Given the description of an element on the screen output the (x, y) to click on. 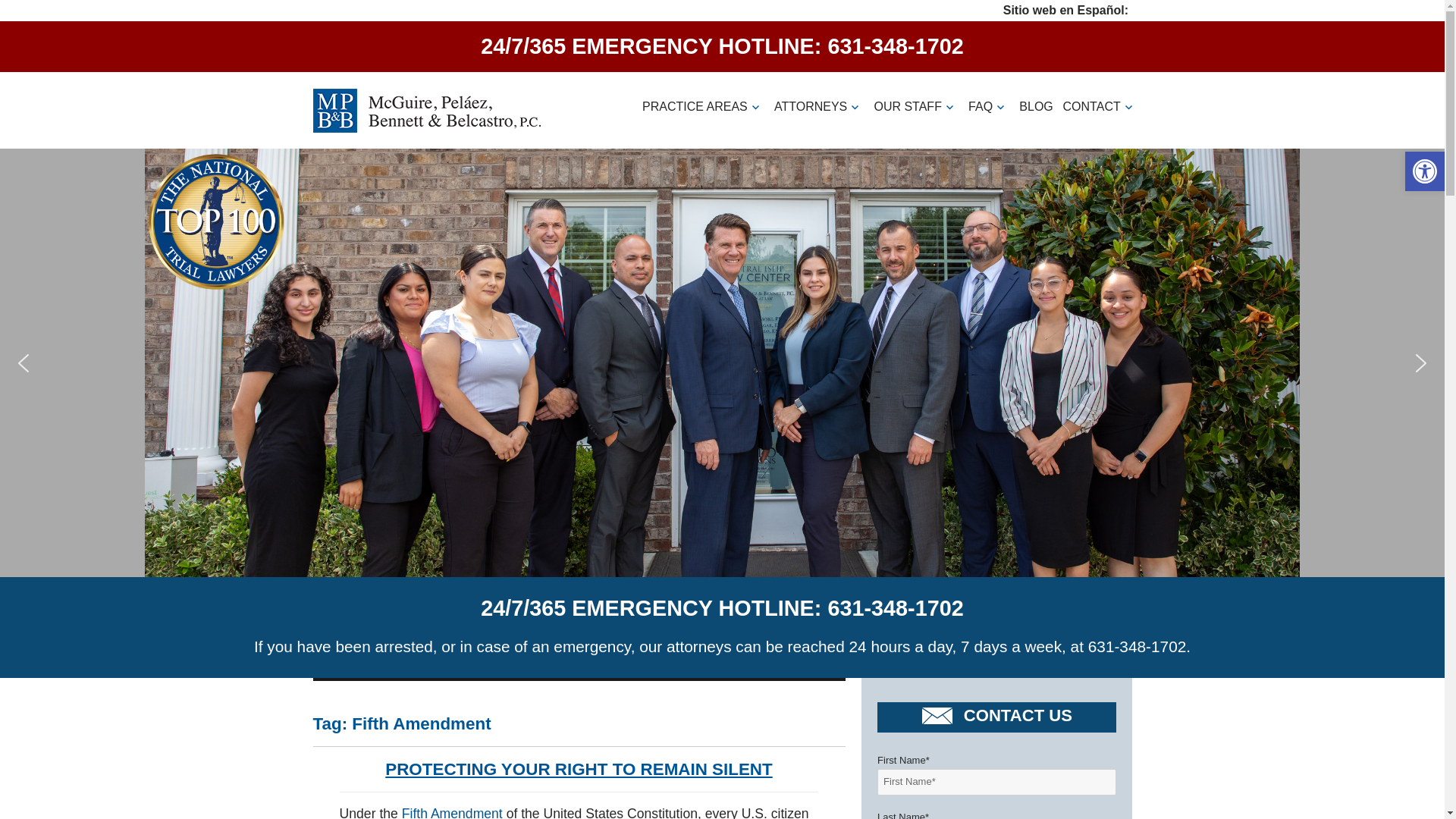
631-348-1702 (894, 46)
Send Us An Email (940, 716)
OUR STAFF (916, 93)
FAQ (988, 93)
631-348-1702 (894, 608)
Accessibility Tools (1424, 170)
CONTACT (1099, 93)
ATTORNEYS (819, 93)
BLOG (1036, 93)
PRACTICE AREAS (703, 93)
